Given the description of an element on the screen output the (x, y) to click on. 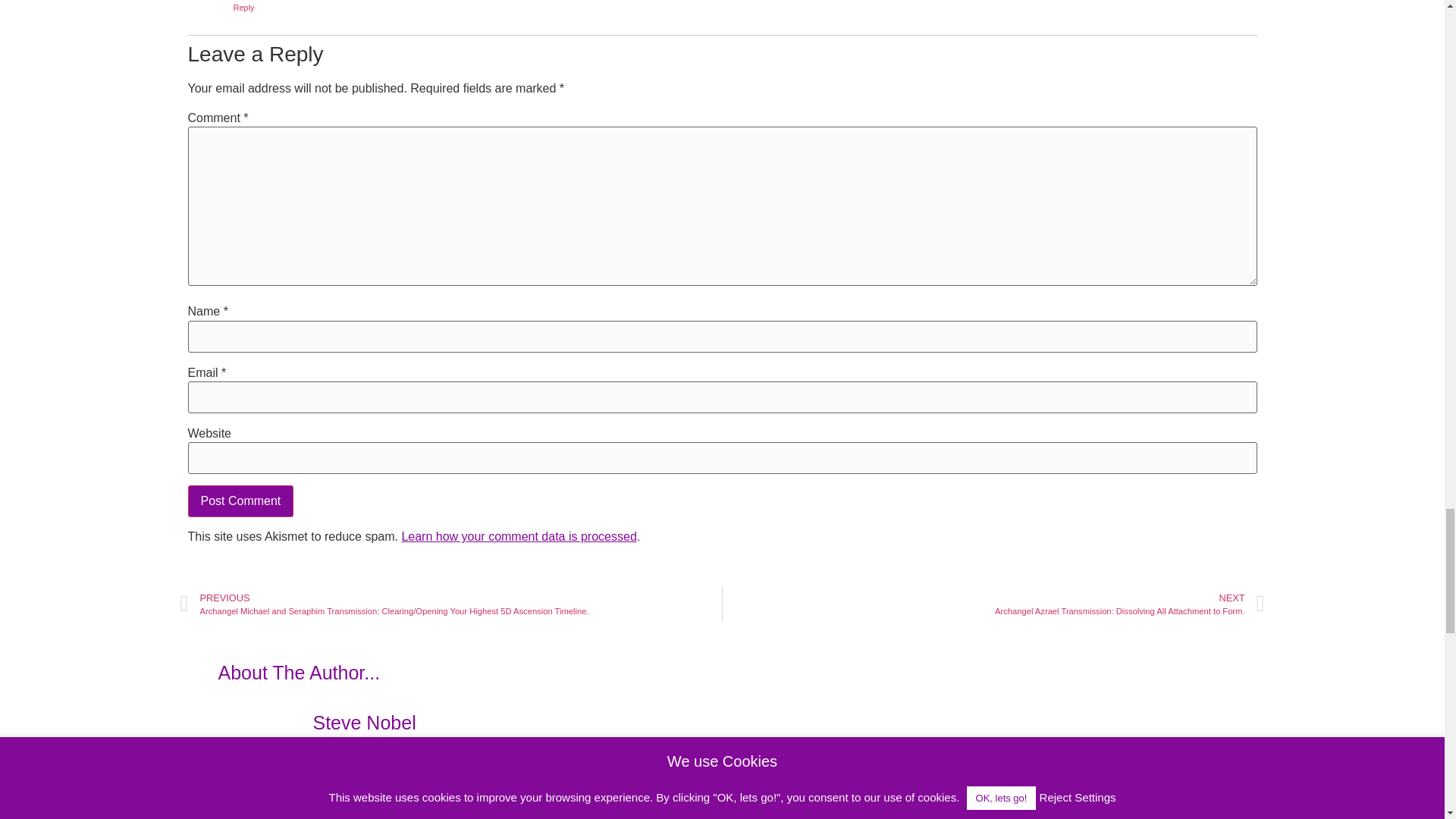
Post Comment (240, 500)
